Given the description of an element on the screen output the (x, y) to click on. 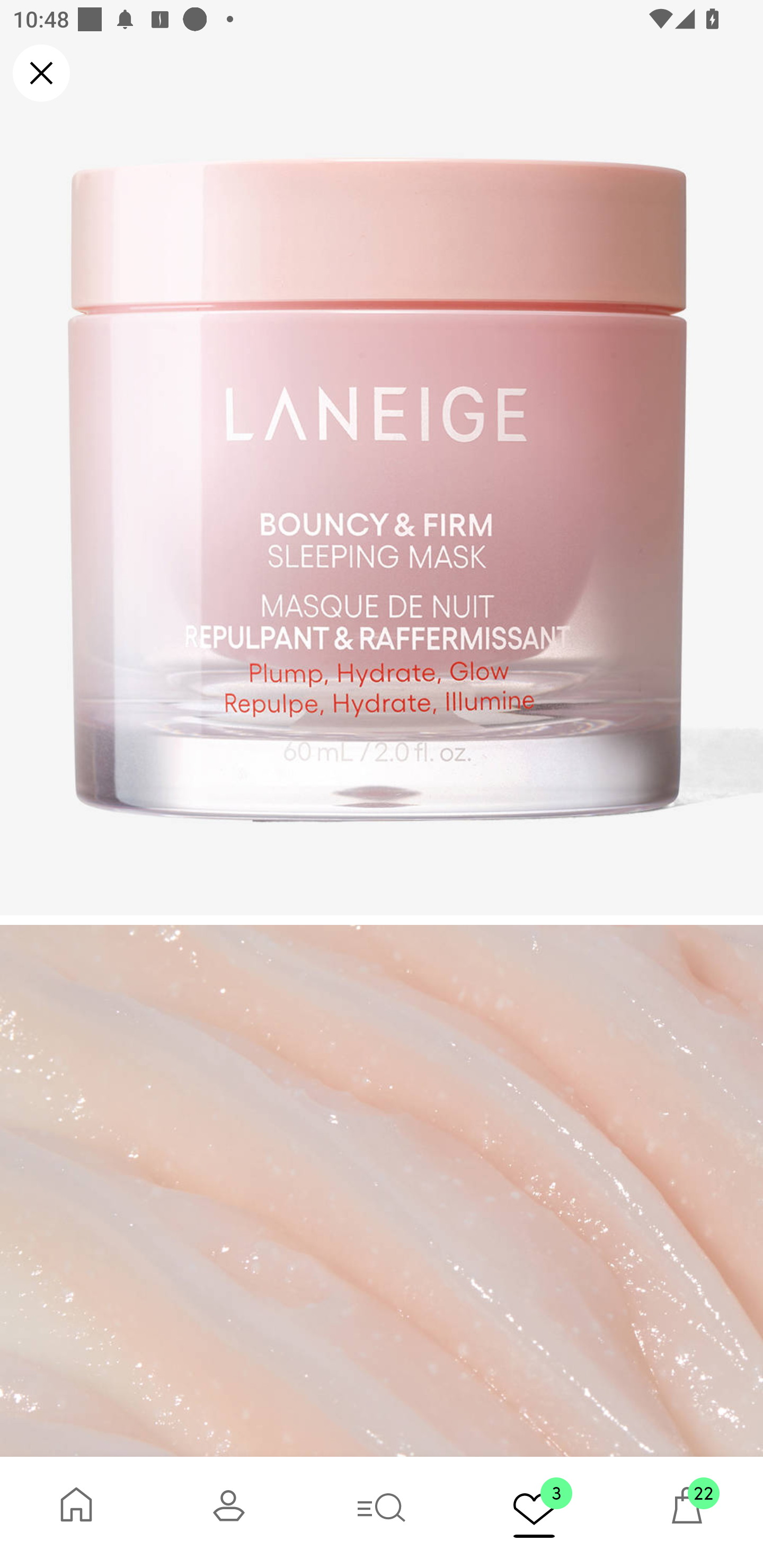
3 (533, 1512)
22 (686, 1512)
